Given the description of an element on the screen output the (x, y) to click on. 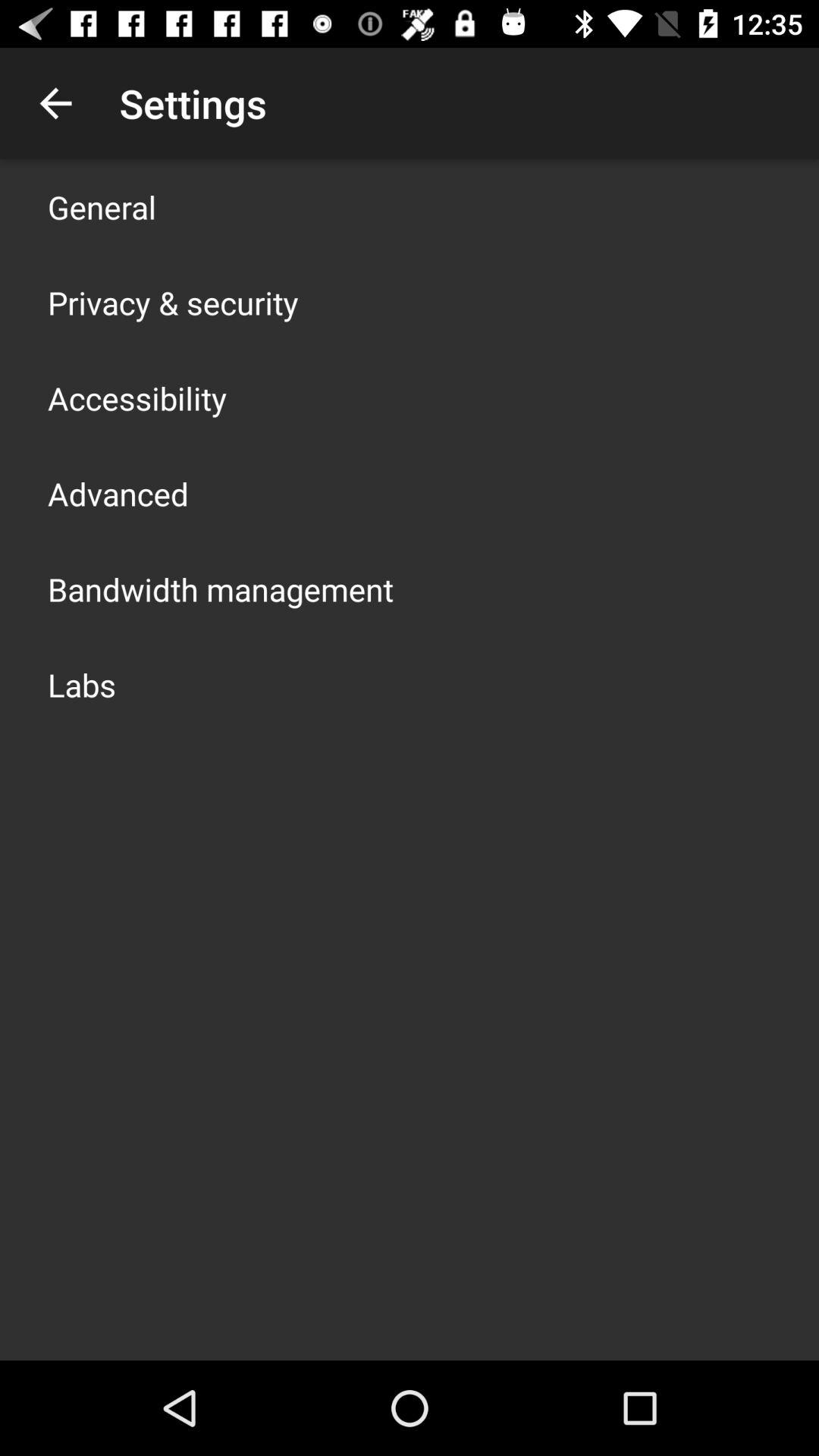
choose item above the accessibility app (172, 302)
